Given the description of an element on the screen output the (x, y) to click on. 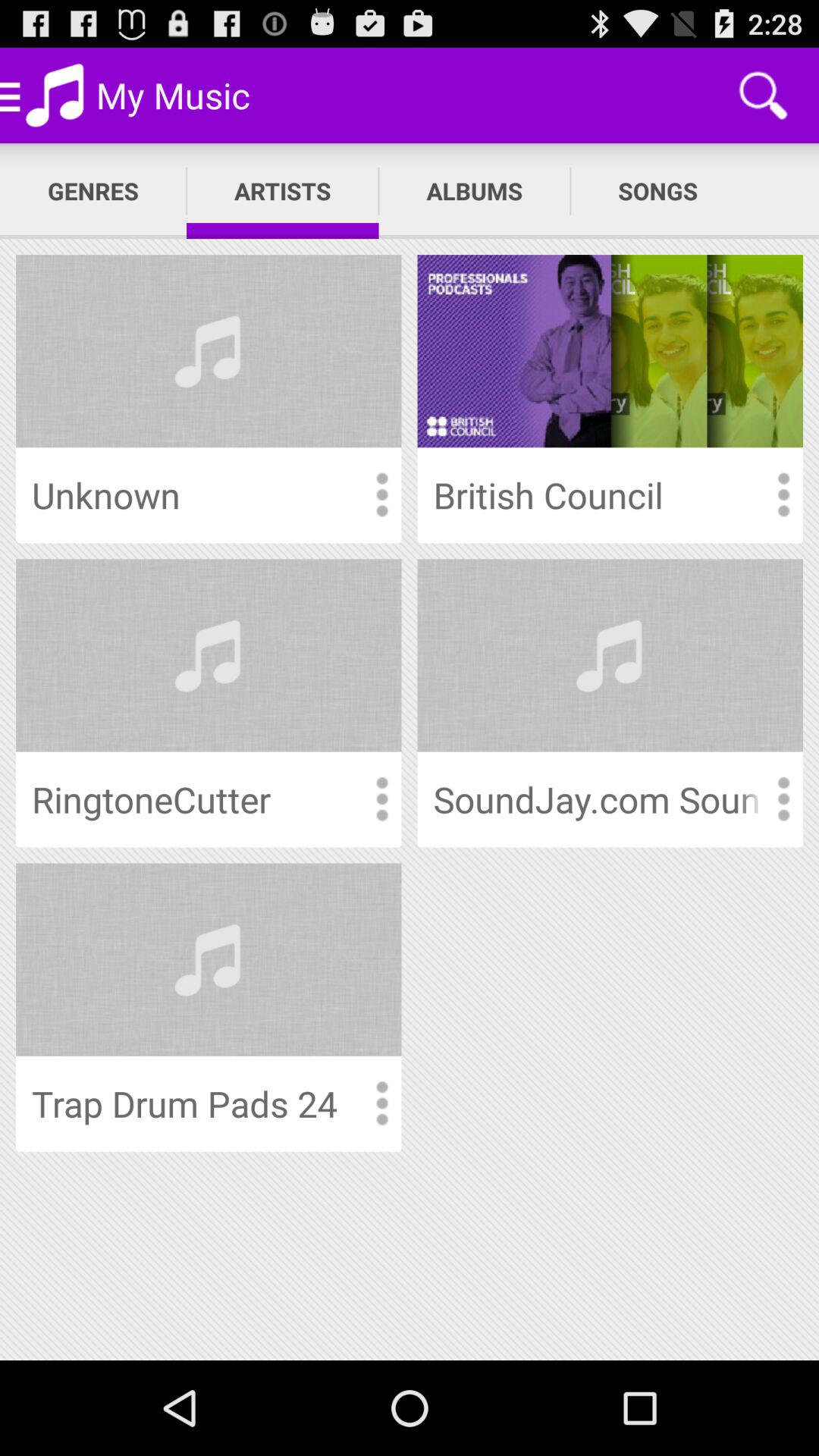
select genres item (93, 190)
